Given the description of an element on the screen output the (x, y) to click on. 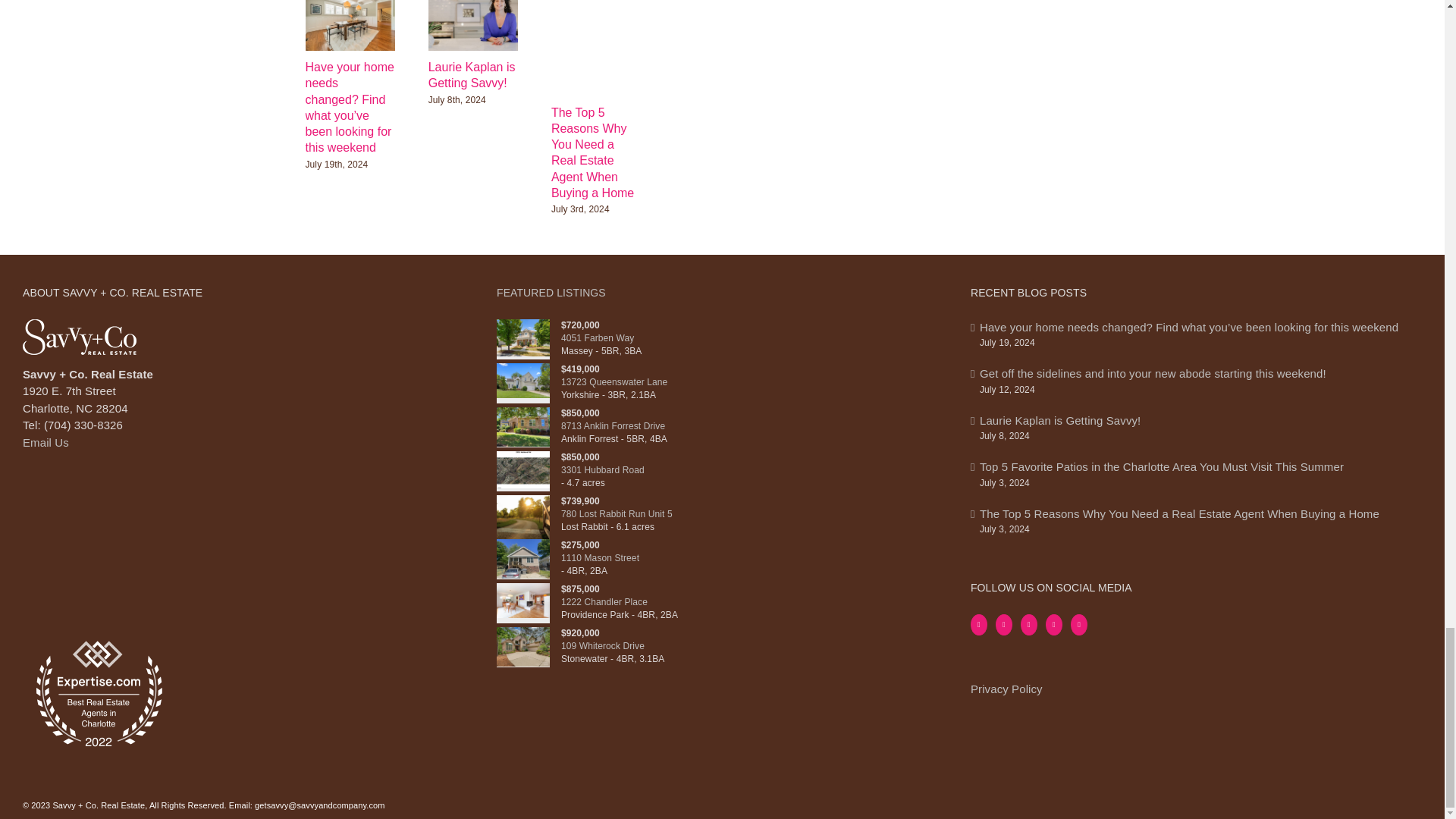
Laurie Kaplan is Getting Savvy! (471, 74)
